Given the description of an element on the screen output the (x, y) to click on. 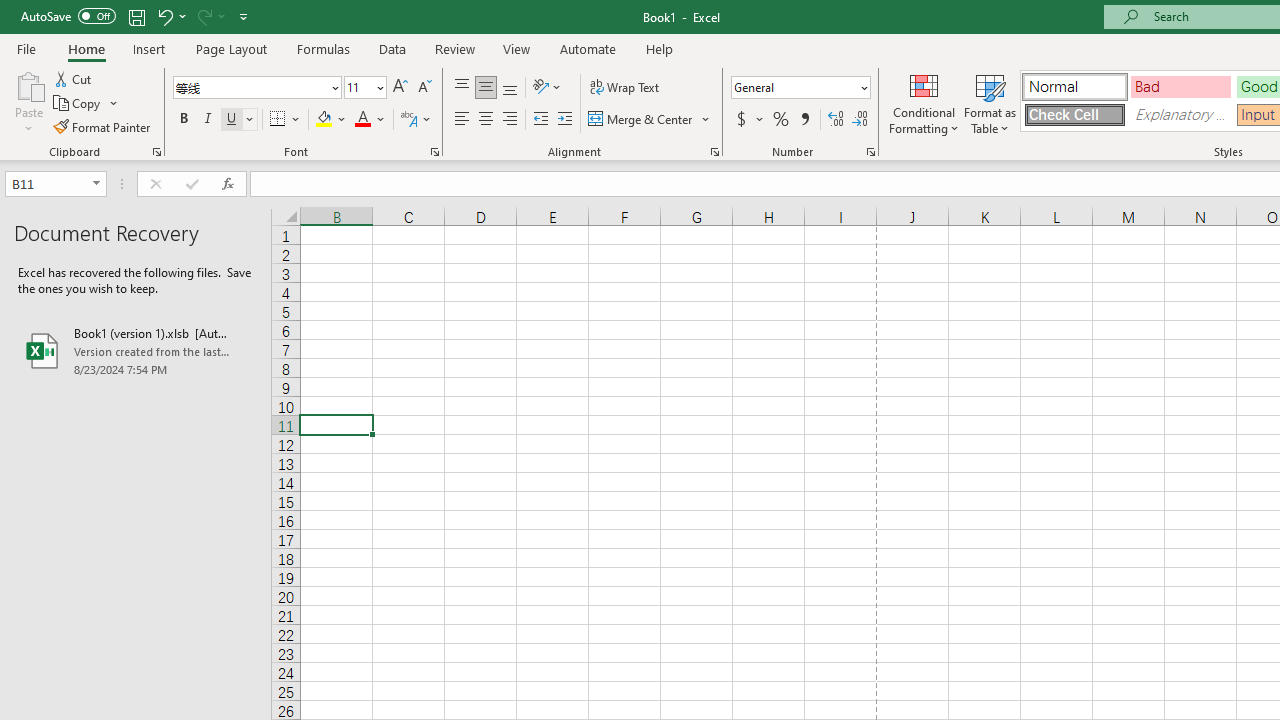
Bad (1180, 86)
Bottom Align (509, 87)
Number Format (794, 87)
Explanatory Text (1180, 114)
Accounting Number Format (741, 119)
Paste (28, 84)
Format Cell Alignment (714, 151)
Font Color (370, 119)
Italic (207, 119)
Align Left (461, 119)
Top Align (461, 87)
Decrease Font Size (424, 87)
Format Cell Font (434, 151)
